Given the description of an element on the screen output the (x, y) to click on. 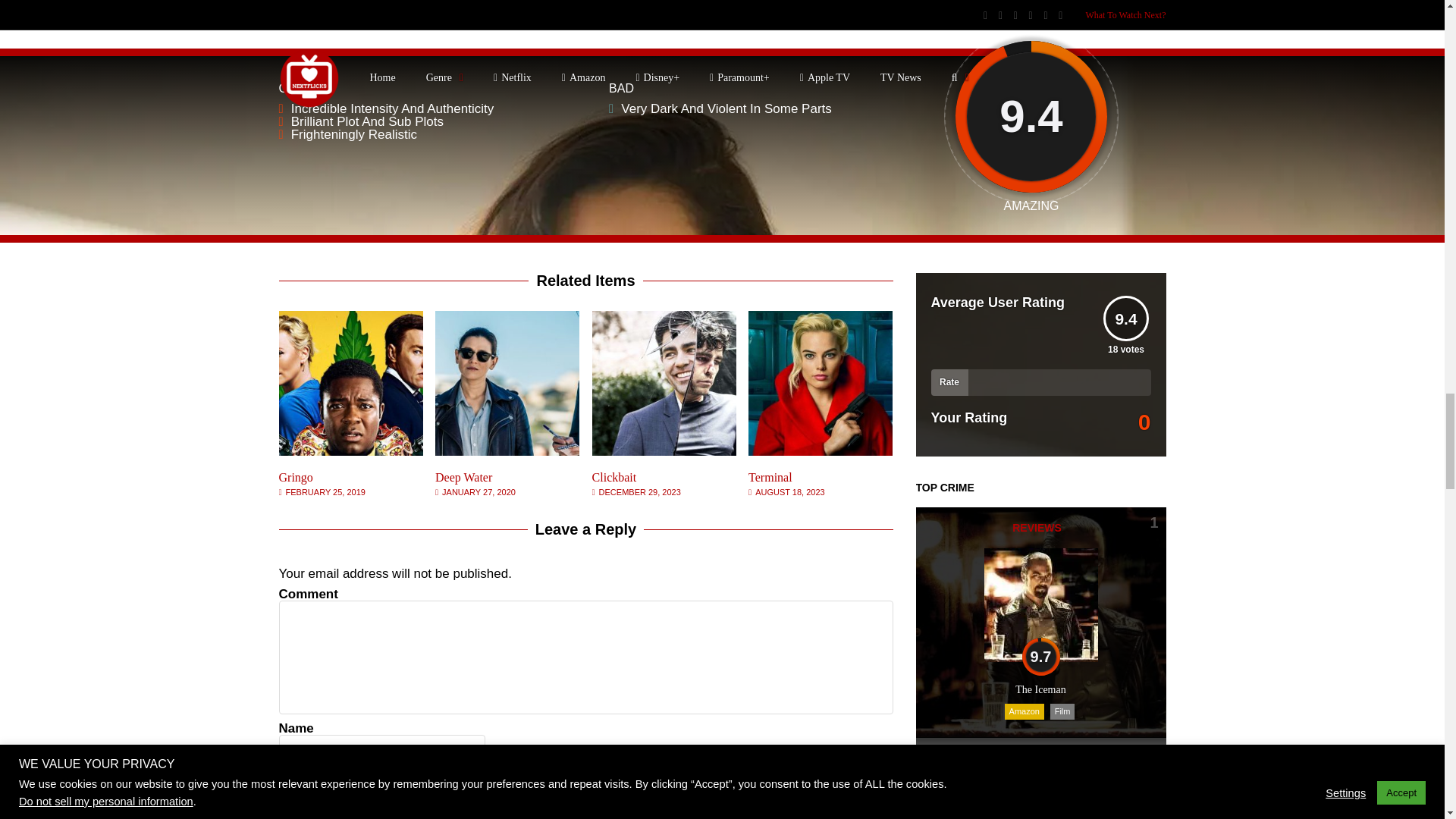
Deep Water (463, 477)
Gringo (351, 451)
Clickbait (614, 477)
Gringo (296, 477)
Clickbait (664, 451)
Deep Water (507, 451)
